Given the description of an element on the screen output the (x, y) to click on. 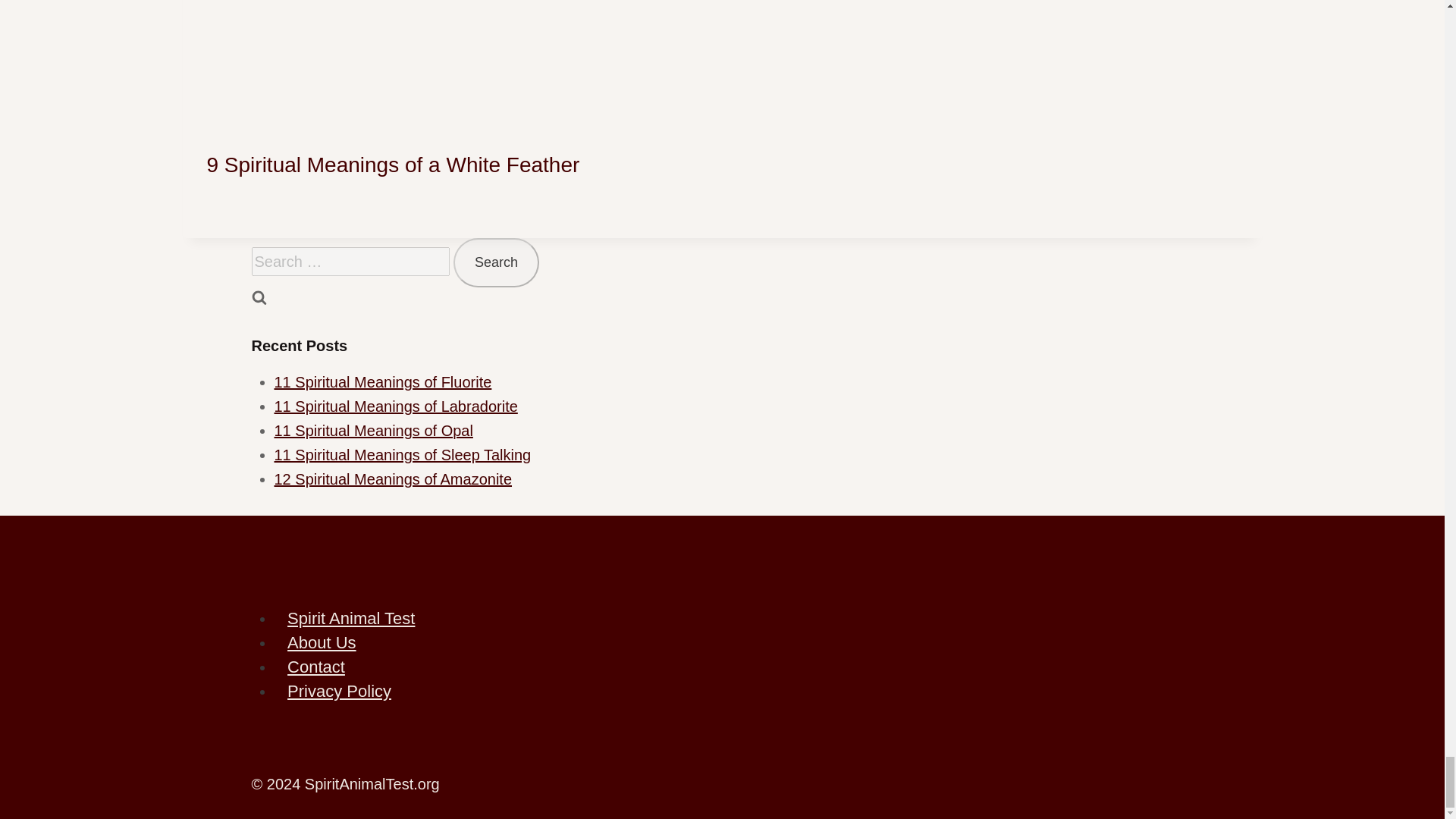
Search (495, 262)
Search (495, 262)
